Given the description of an element on the screen output the (x, y) to click on. 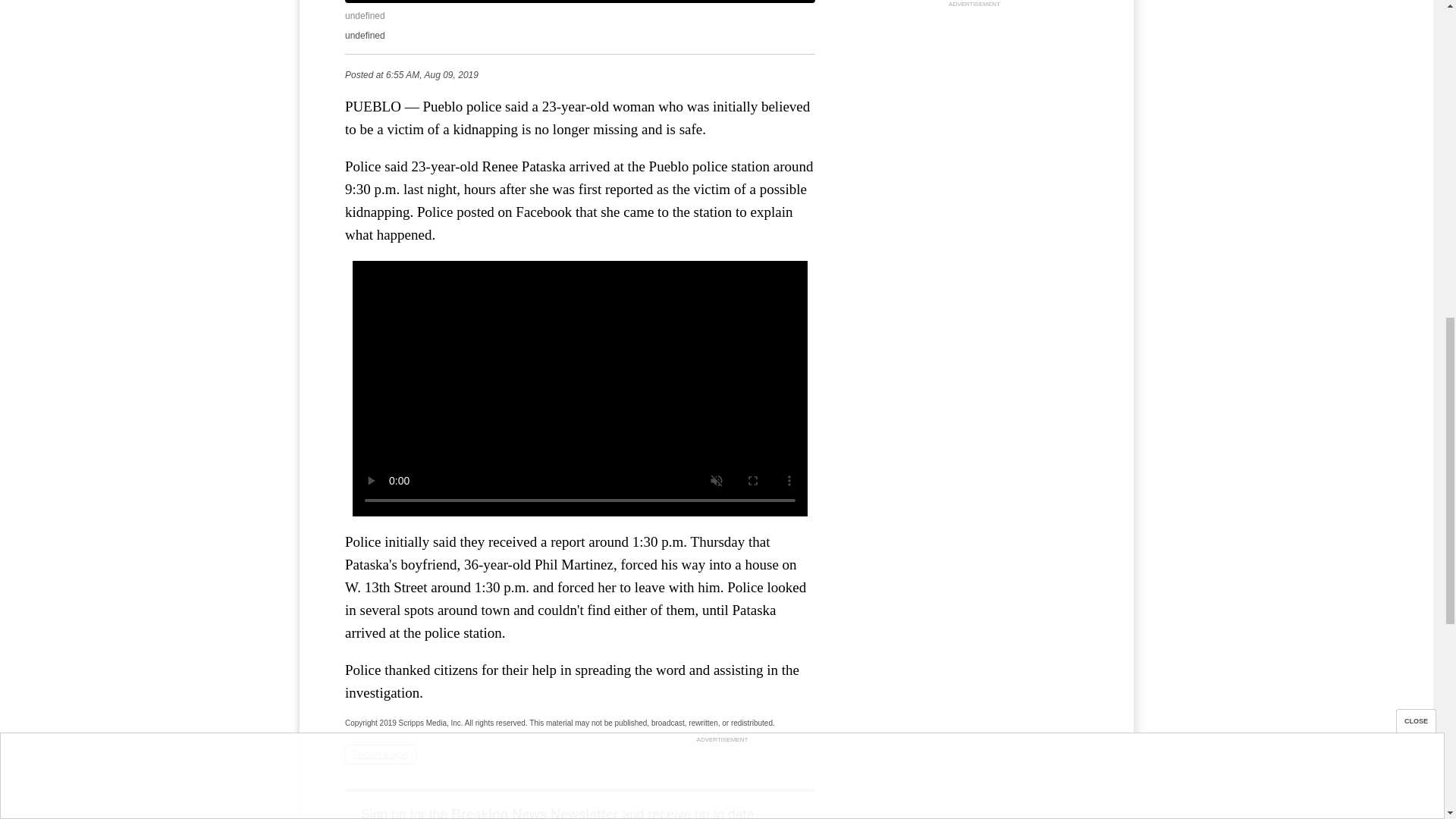
3rd party ad content (973, 105)
